Given the description of an element on the screen output the (x, y) to click on. 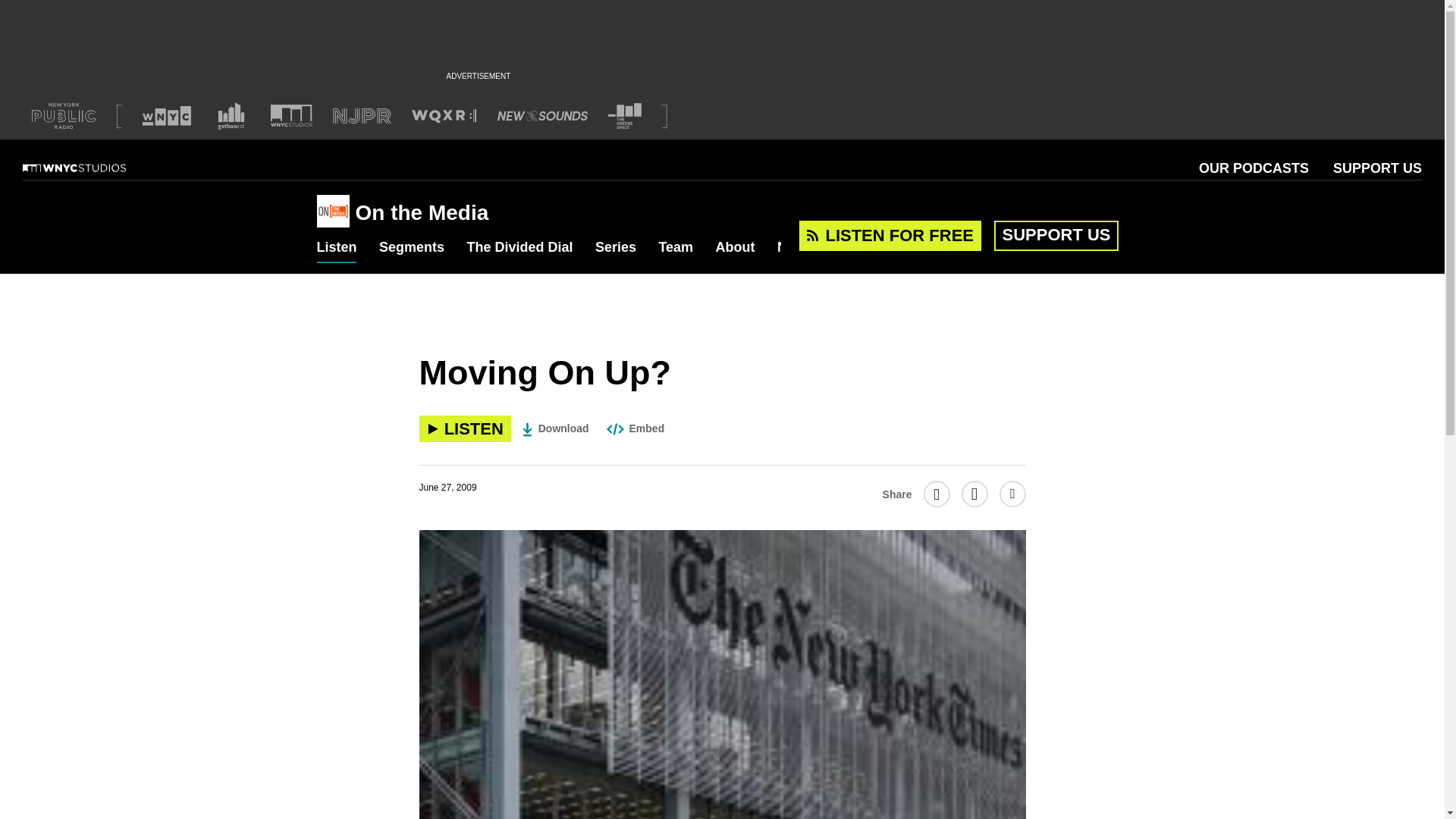
The Divided Dial (518, 248)
WNYC Studios (93, 168)
SUPPORT US (1055, 234)
Series (615, 248)
Team (675, 248)
LISTEN FOR FREE (890, 235)
OUR PODCASTS (1253, 168)
About (735, 248)
On the Media (336, 212)
